Given the description of an element on the screen output the (x, y) to click on. 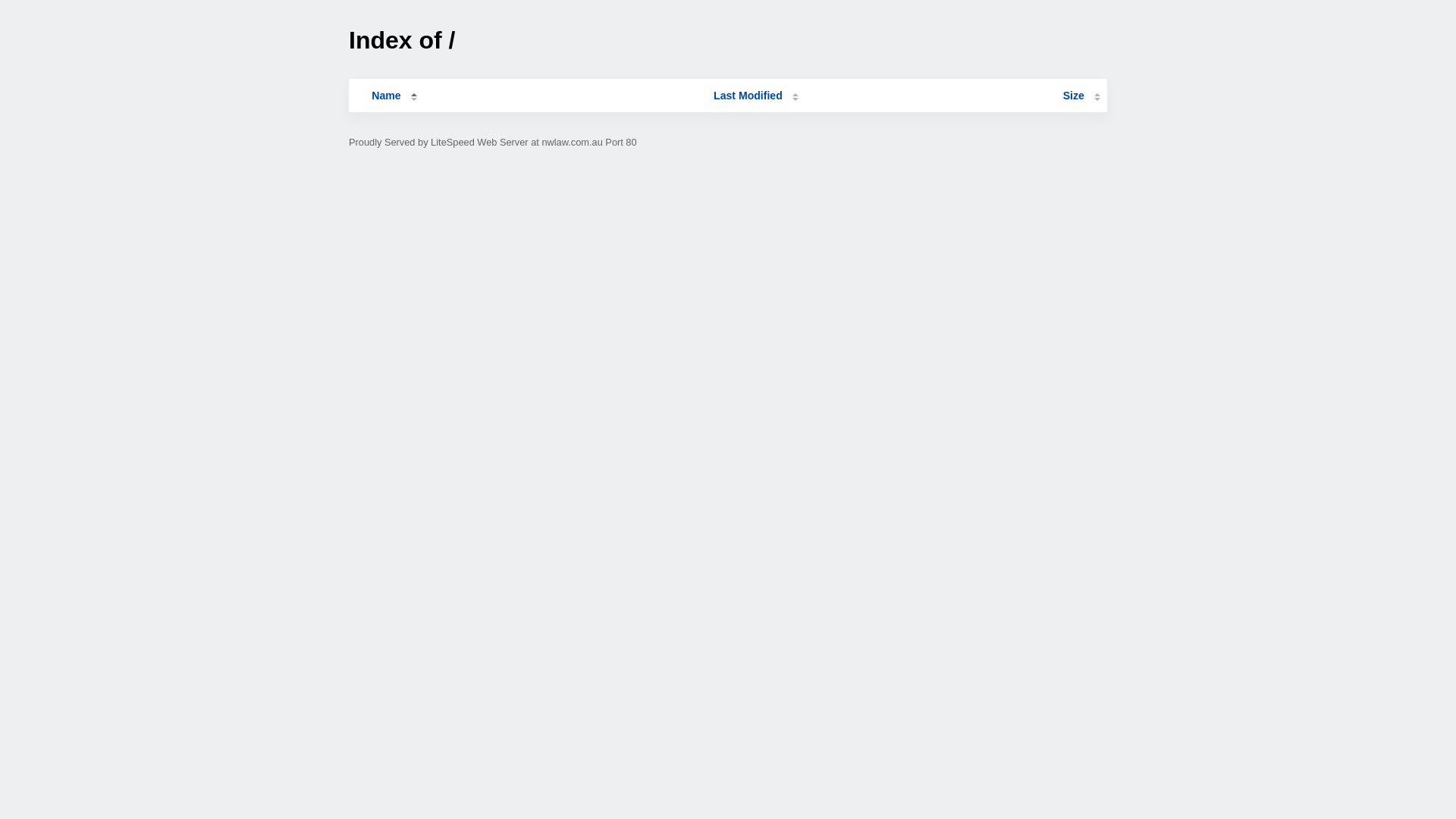
Name Element type: text (385, 95)
Last Modified Element type: text (755, 95)
Size Element type: text (1081, 95)
